Given the description of an element on the screen output the (x, y) to click on. 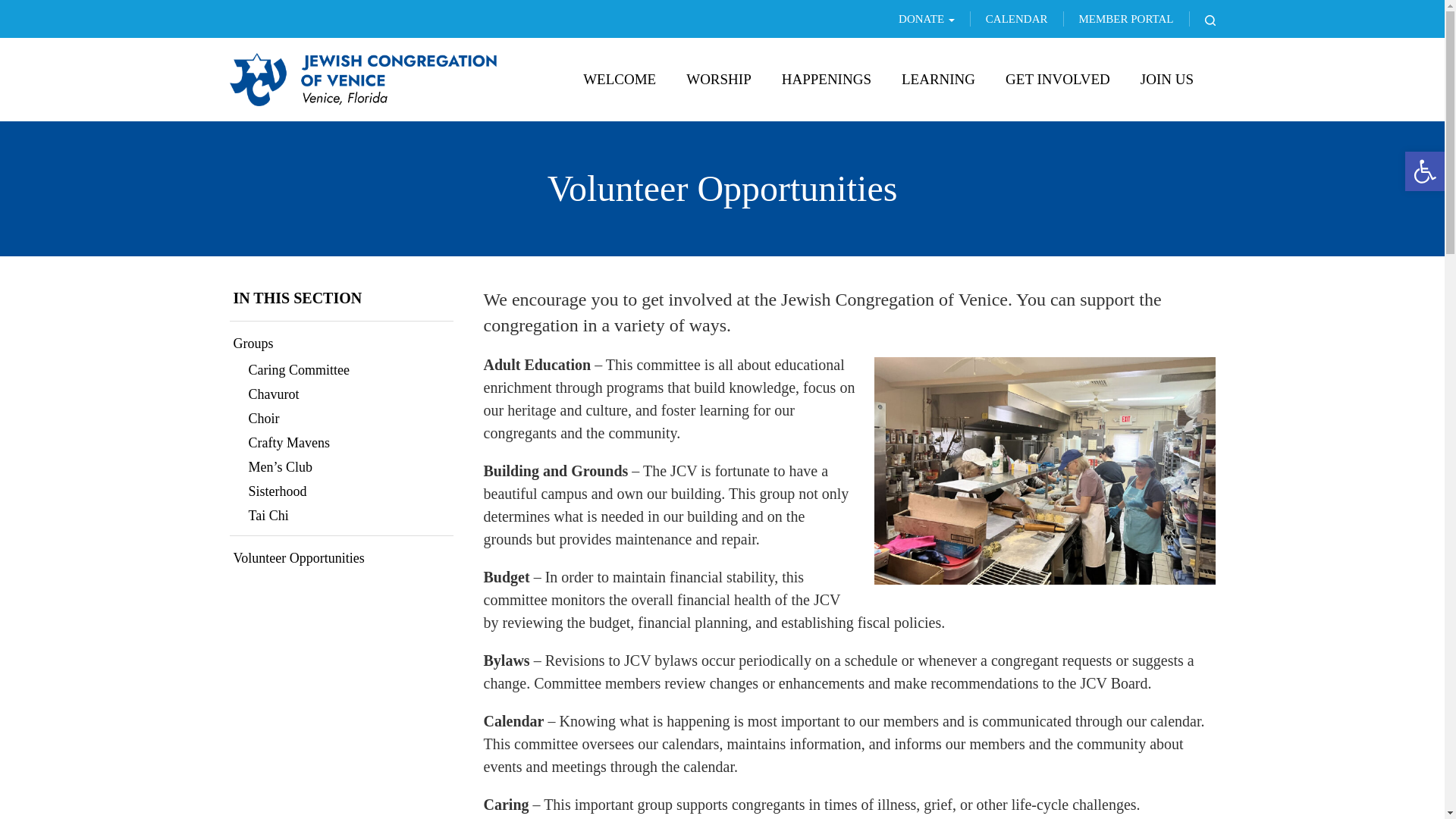
DONATE (926, 18)
WORSHIP (719, 79)
WELCOME (619, 79)
HAPPENINGS (826, 79)
Accessibility Tools (1424, 170)
Member Portal (1117, 18)
MEMBER PORTAL (1117, 18)
Calendar (1008, 18)
LEARNING (938, 79)
CALENDAR (1008, 18)
